Given the description of an element on the screen output the (x, y) to click on. 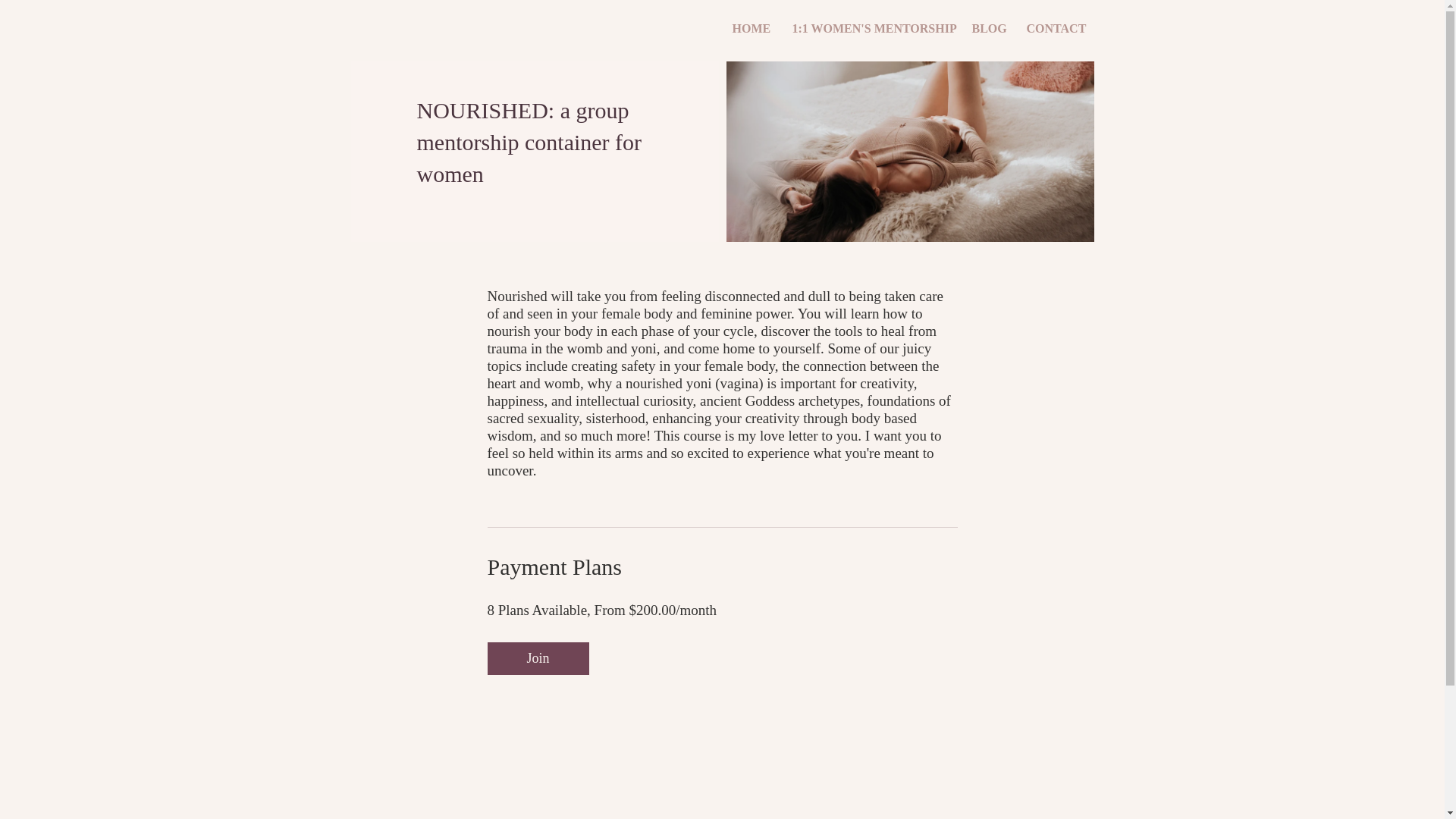
BLOG (986, 28)
HOME (750, 28)
1:1 WOMEN'S MENTORSHIP (870, 28)
Join (537, 658)
CONTACT (1053, 28)
